Given the description of an element on the screen output the (x, y) to click on. 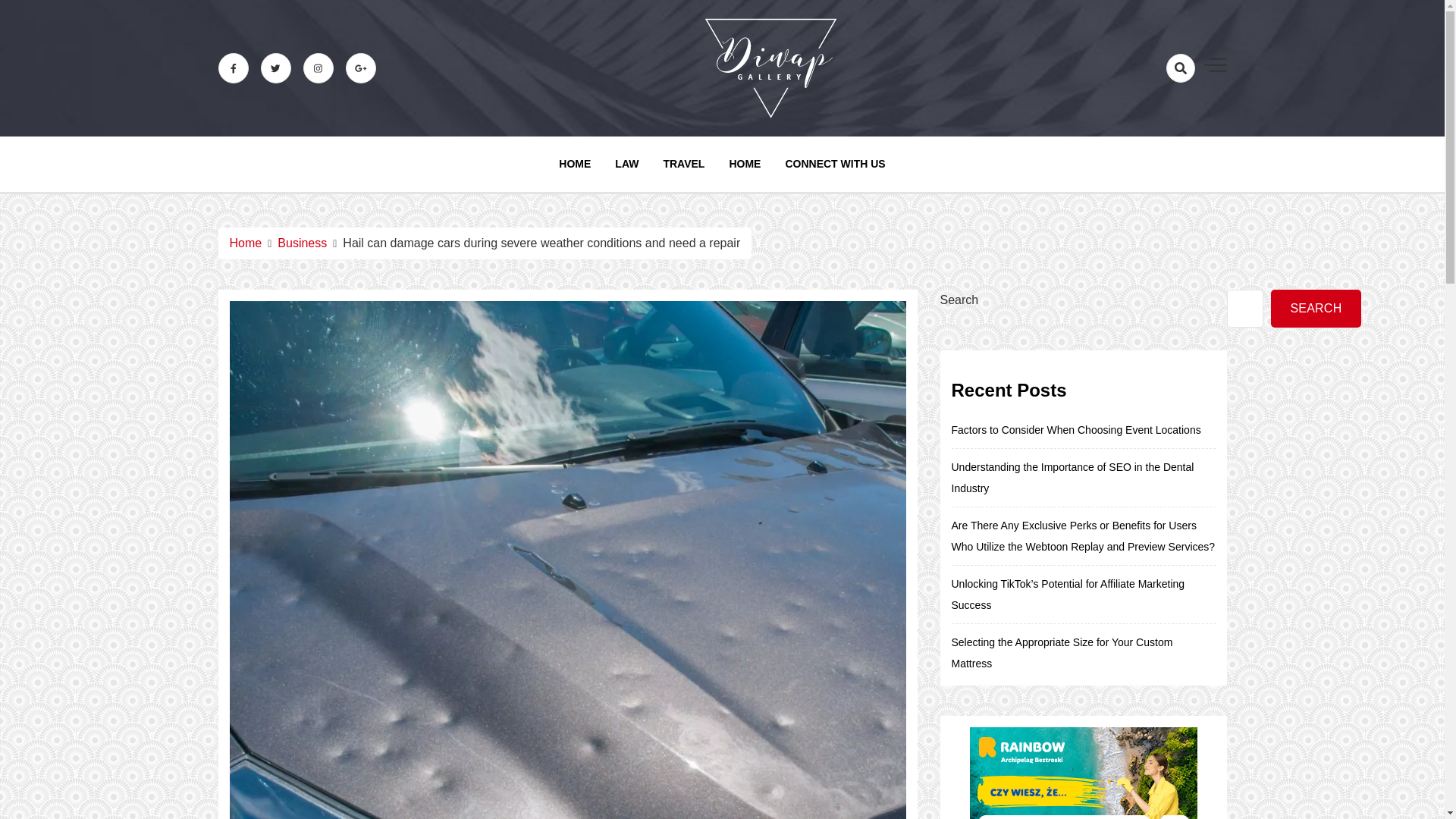
SEARCH (1316, 308)
TRAVEL (683, 163)
HOME (744, 163)
CONNECT WITH US (834, 163)
LAW (626, 163)
Diwap Gallery (837, 155)
Search (1150, 121)
Business (302, 242)
HOME (575, 163)
Home (245, 242)
